Given the description of an element on the screen output the (x, y) to click on. 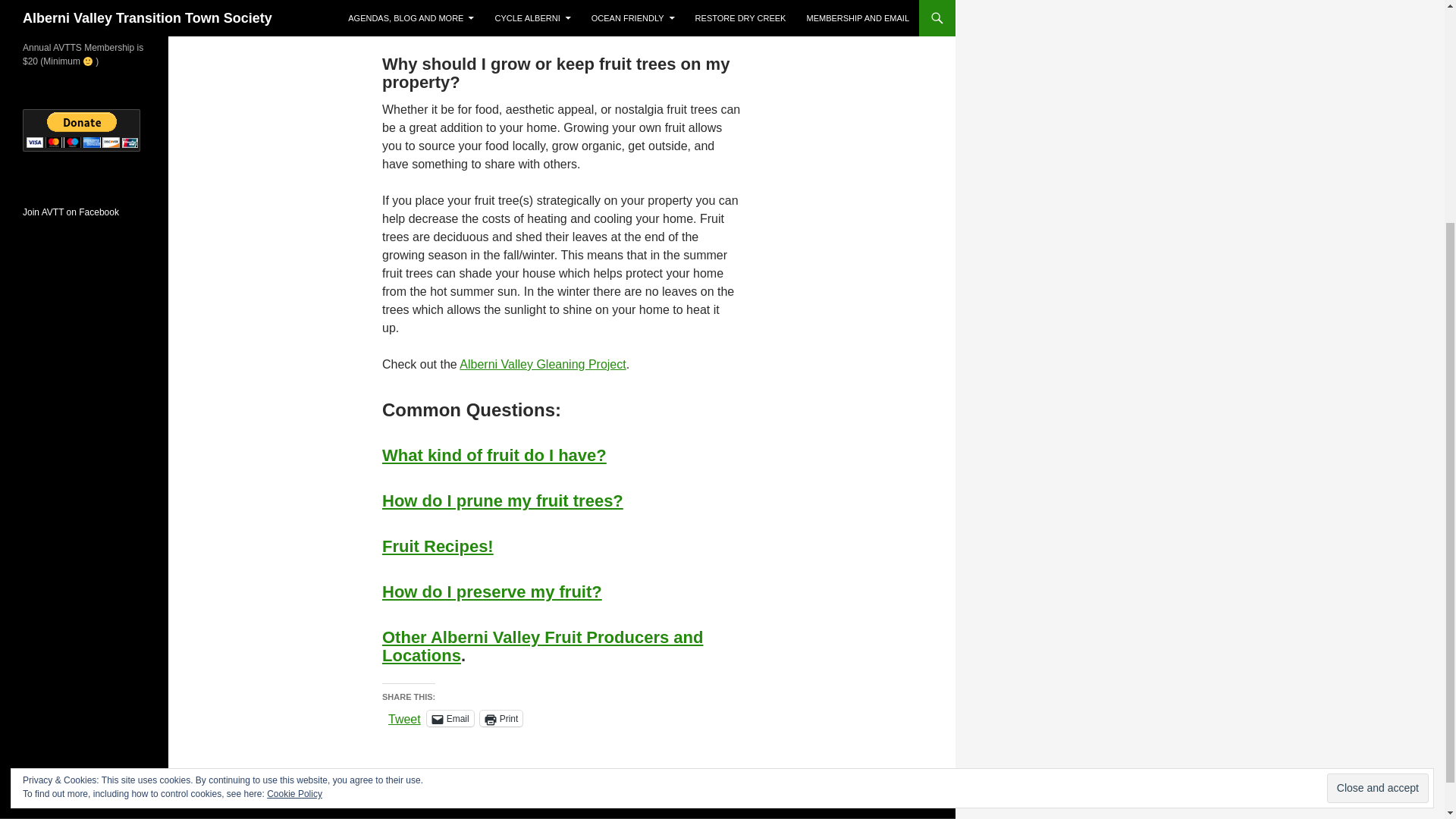
PayPal - The safer, easier way to pay online! (81, 129)
Other Alberni Valley Fruit Producers and Locations (542, 646)
Tweet (404, 716)
Click to print (501, 718)
How do I preserve my fruit? (491, 591)
Close and accept (1377, 478)
What kind of fruit do I have? (494, 455)
Fruit Recipes! (437, 546)
How do I prune my fruit trees? (502, 500)
Alberni Valley Gleaning Project (543, 364)
Click to email a link to a friend (450, 718)
